Given the description of an element on the screen output the (x, y) to click on. 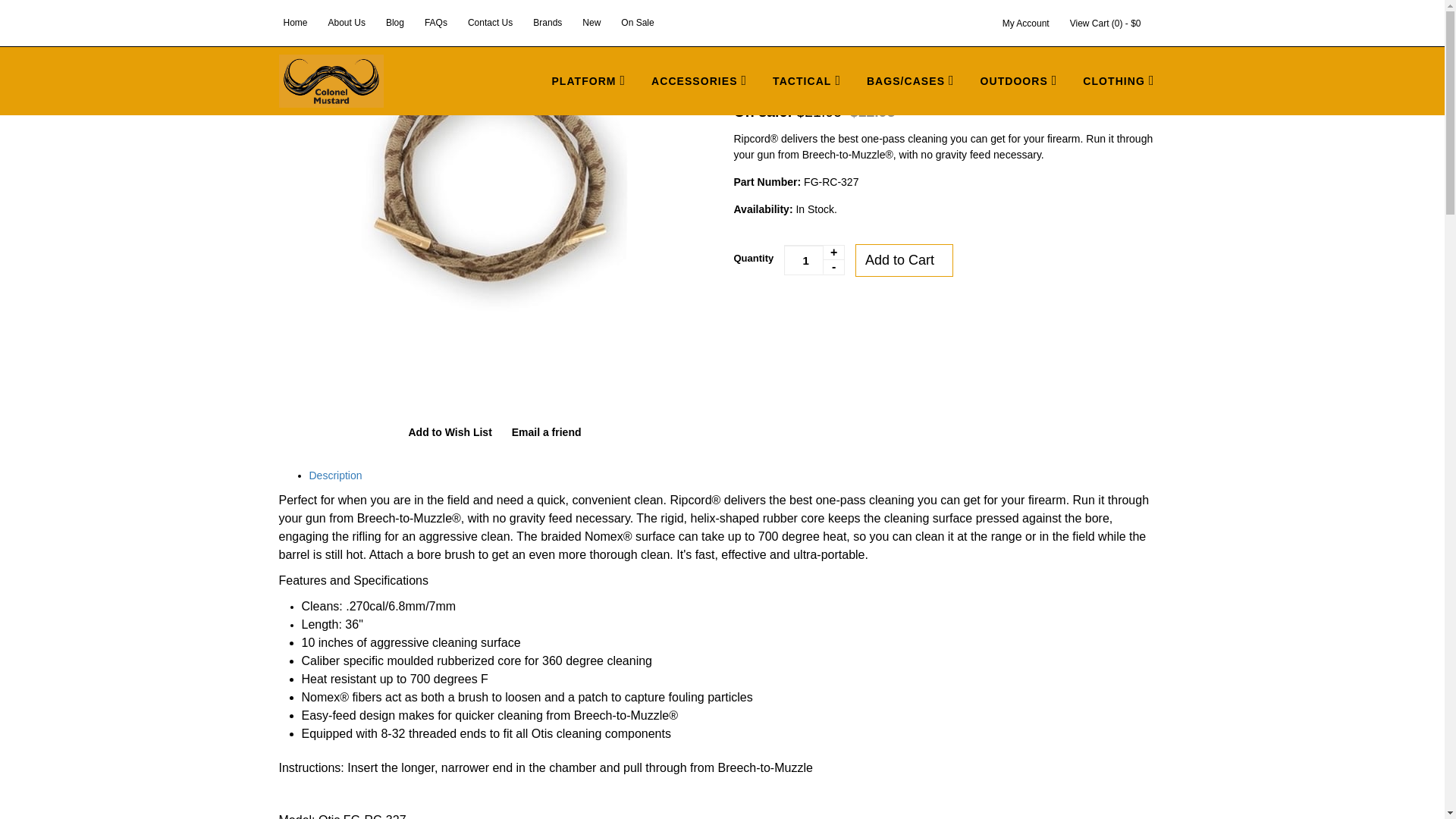
About Us (346, 22)
On Sale (636, 22)
ACCESSORIES (699, 81)
Contact Us (489, 22)
Blog (395, 22)
1 (814, 259)
FAQs (435, 22)
Home (296, 22)
My Account (1025, 23)
New (591, 22)
Brands (547, 22)
PLATFORM (588, 81)
